Given the description of an element on the screen output the (x, y) to click on. 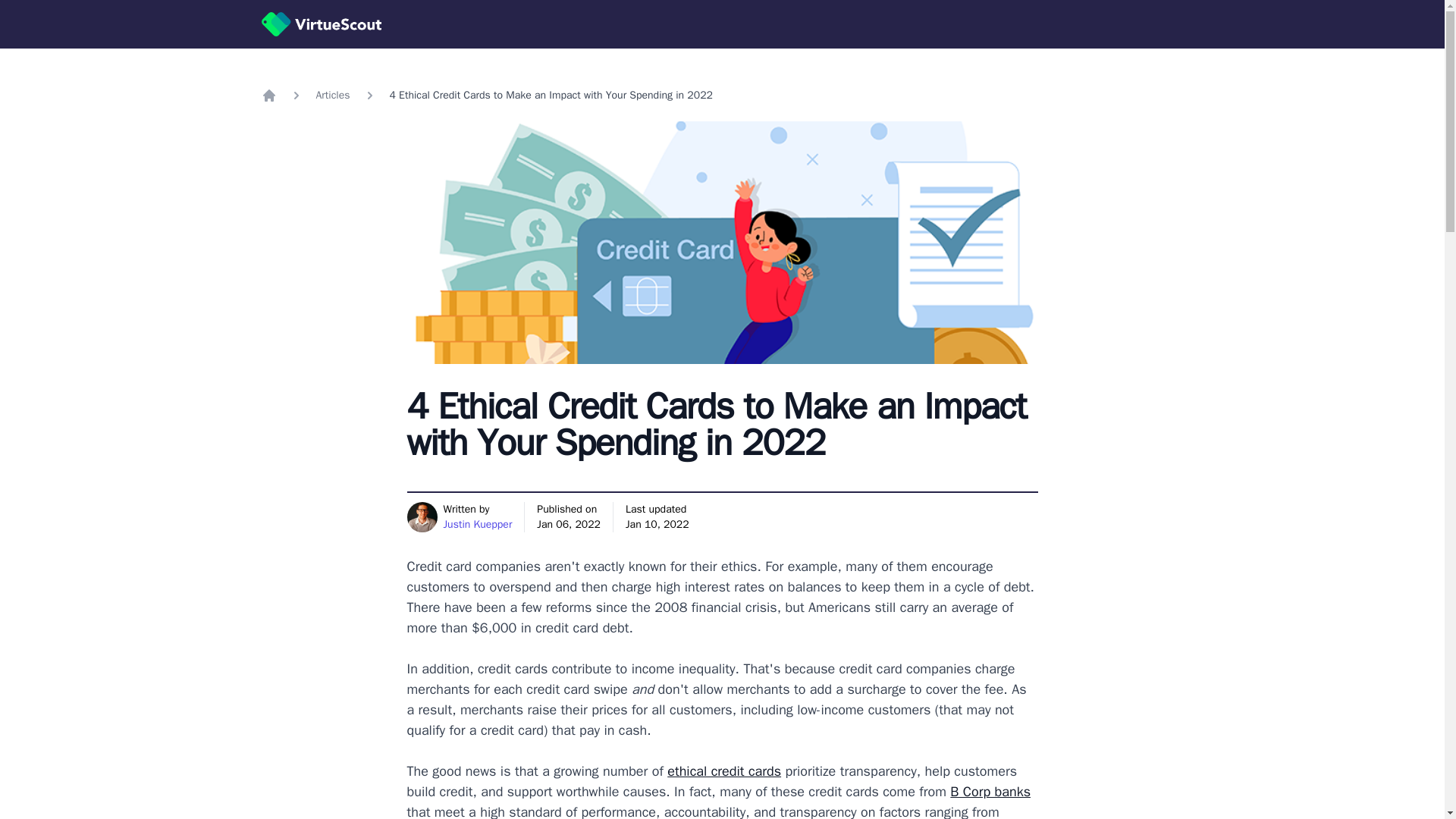
ethical credit cards (723, 770)
B Corp banks (990, 791)
Articles (332, 95)
Home (268, 95)
